Given the description of an element on the screen output the (x, y) to click on. 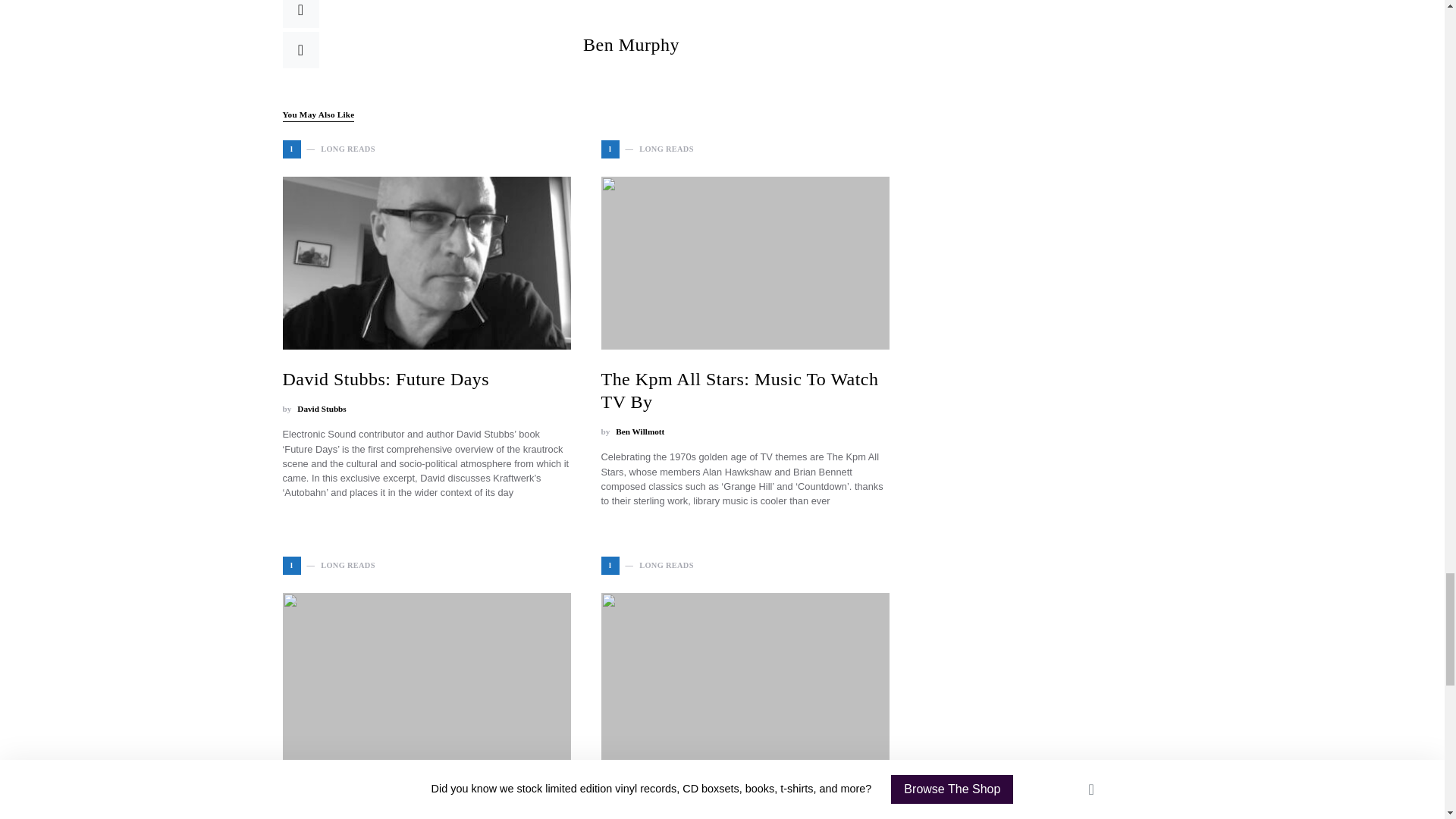
View all posts by David Stubbs (321, 408)
View all posts by Ben Willmott (639, 431)
